Given the description of an element on the screen output the (x, y) to click on. 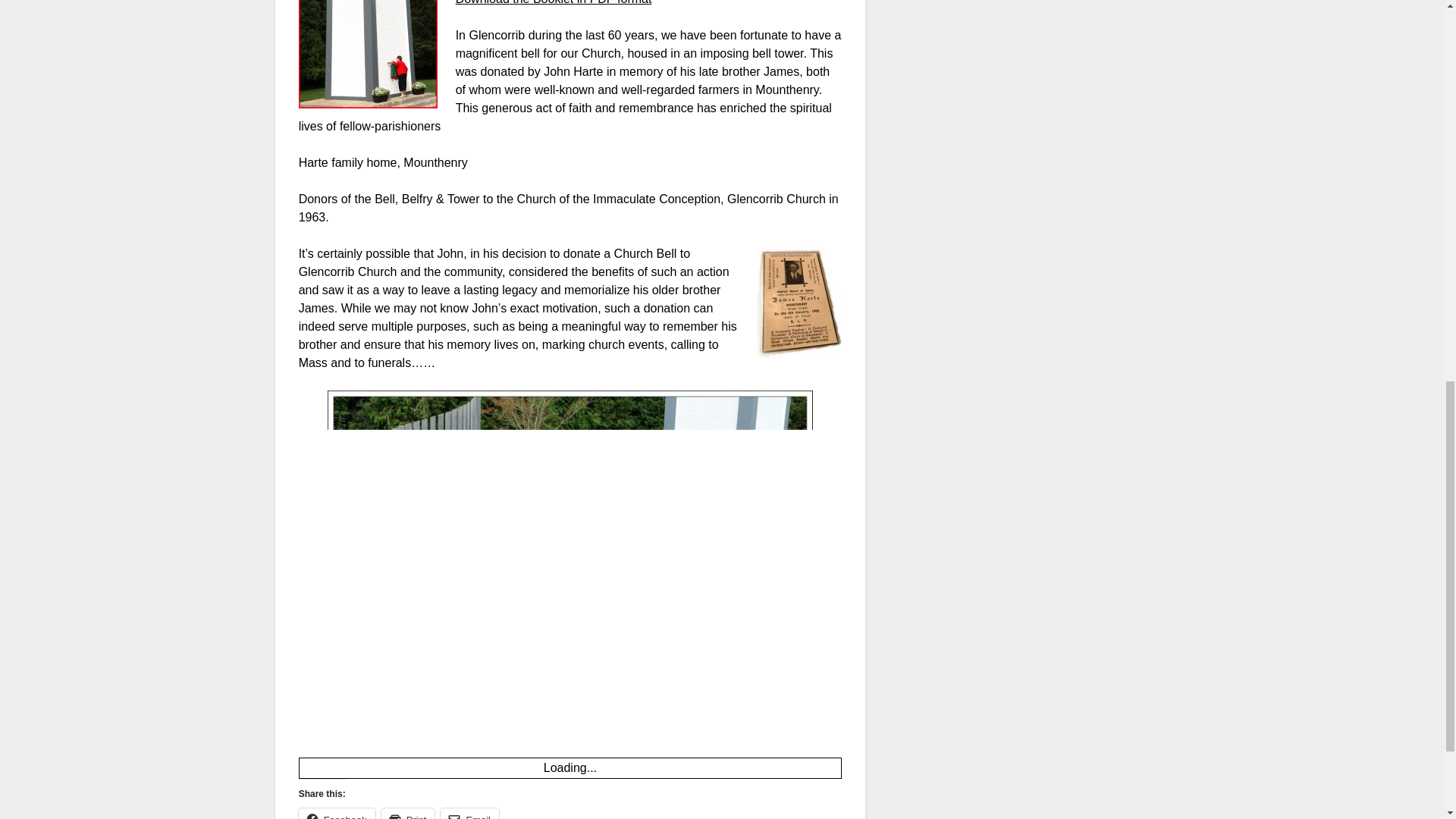
Click to print (408, 813)
Click to email a link to a friend (470, 813)
Click to share on Facebook (336, 813)
